Given the description of an element on the screen output the (x, y) to click on. 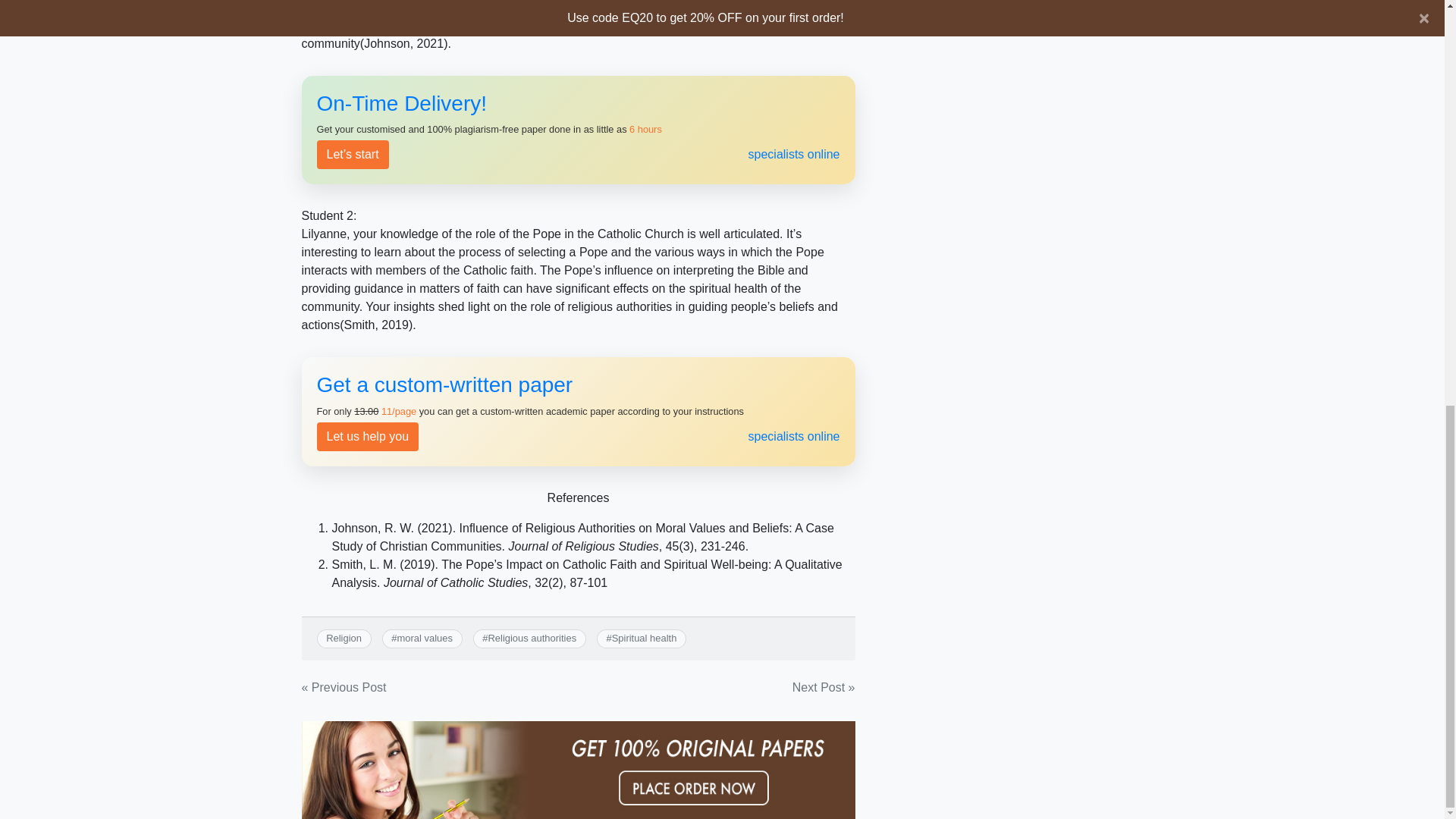
Religious authorities (531, 637)
Religion (343, 637)
moral values (424, 637)
Spiritual health (644, 637)
Let us help you (578, 411)
